Given the description of an element on the screen output the (x, y) to click on. 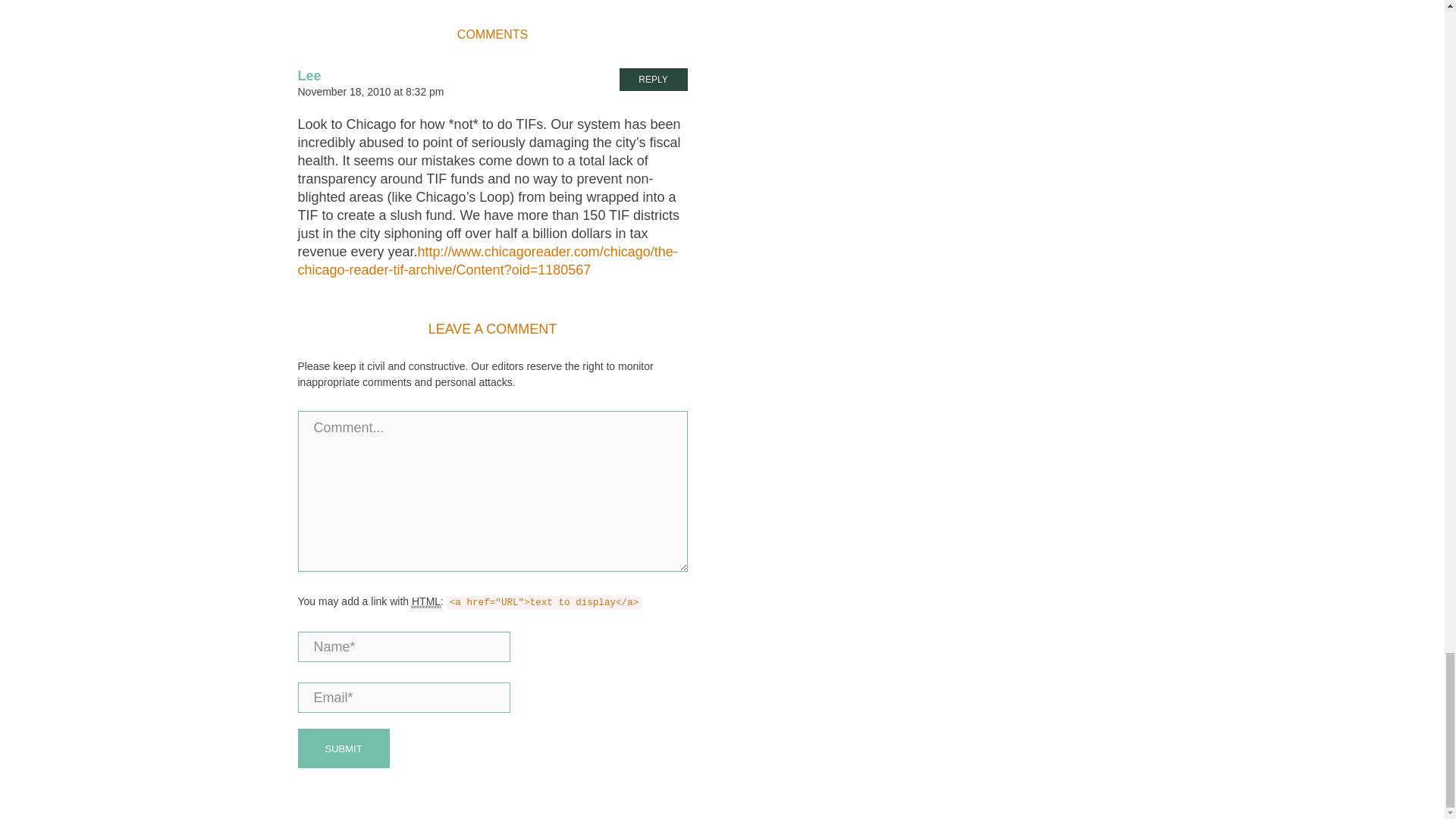
Submit (342, 748)
